Given the description of an element on the screen output the (x, y) to click on. 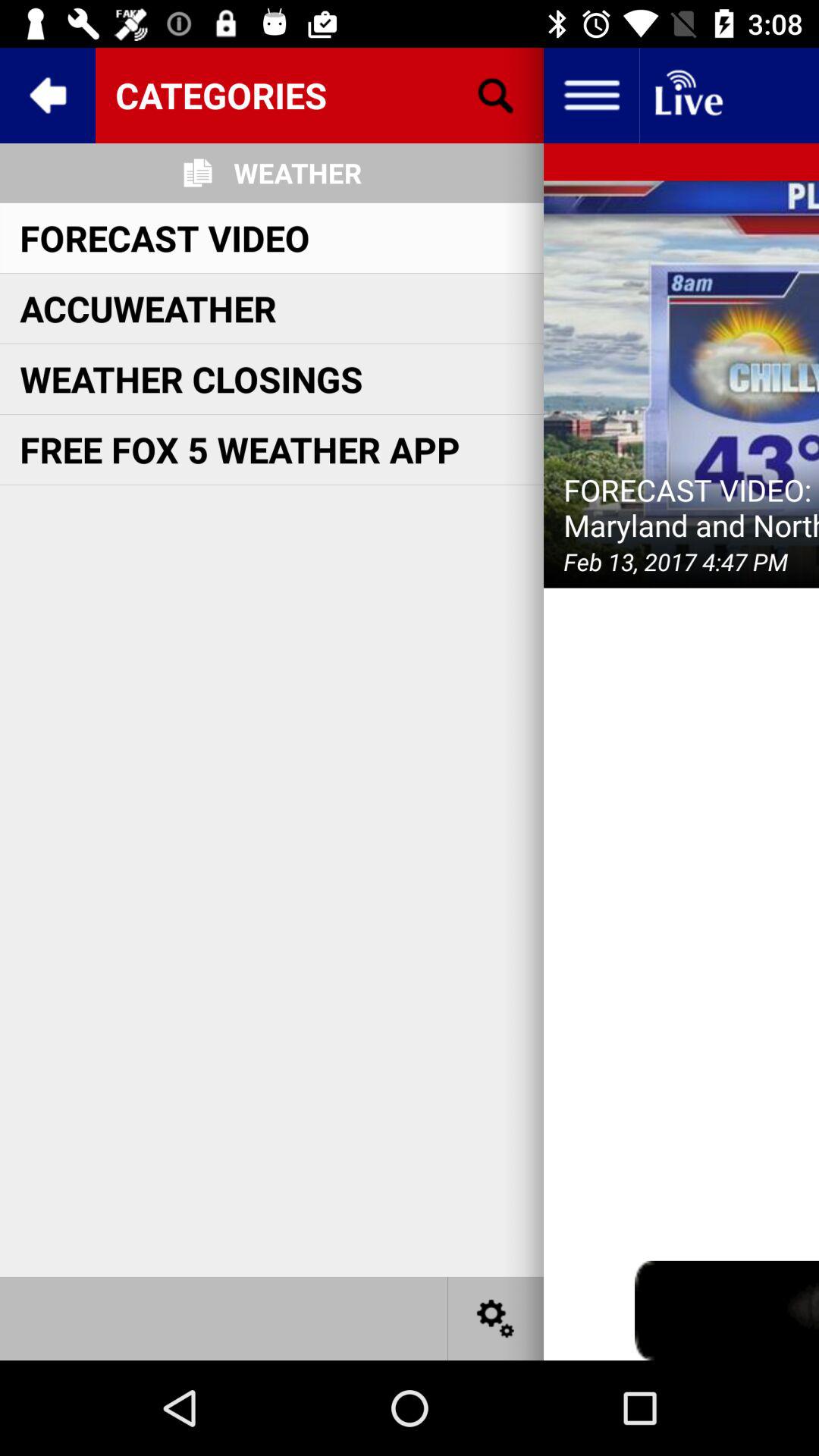
go back (47, 95)
